Given the description of an element on the screen output the (x, y) to click on. 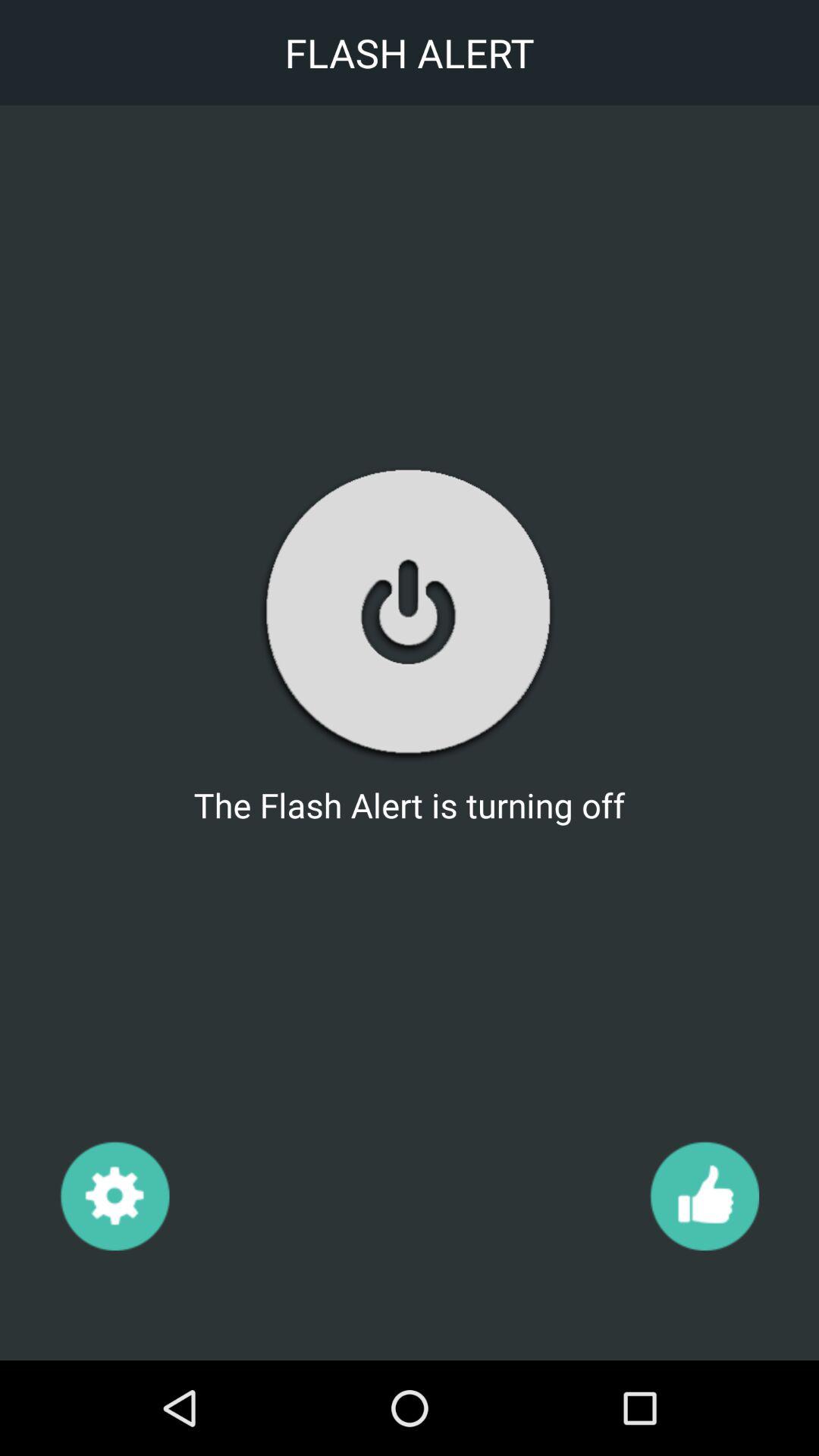
select icon below flash alert icon (114, 1195)
